Given the description of an element on the screen output the (x, y) to click on. 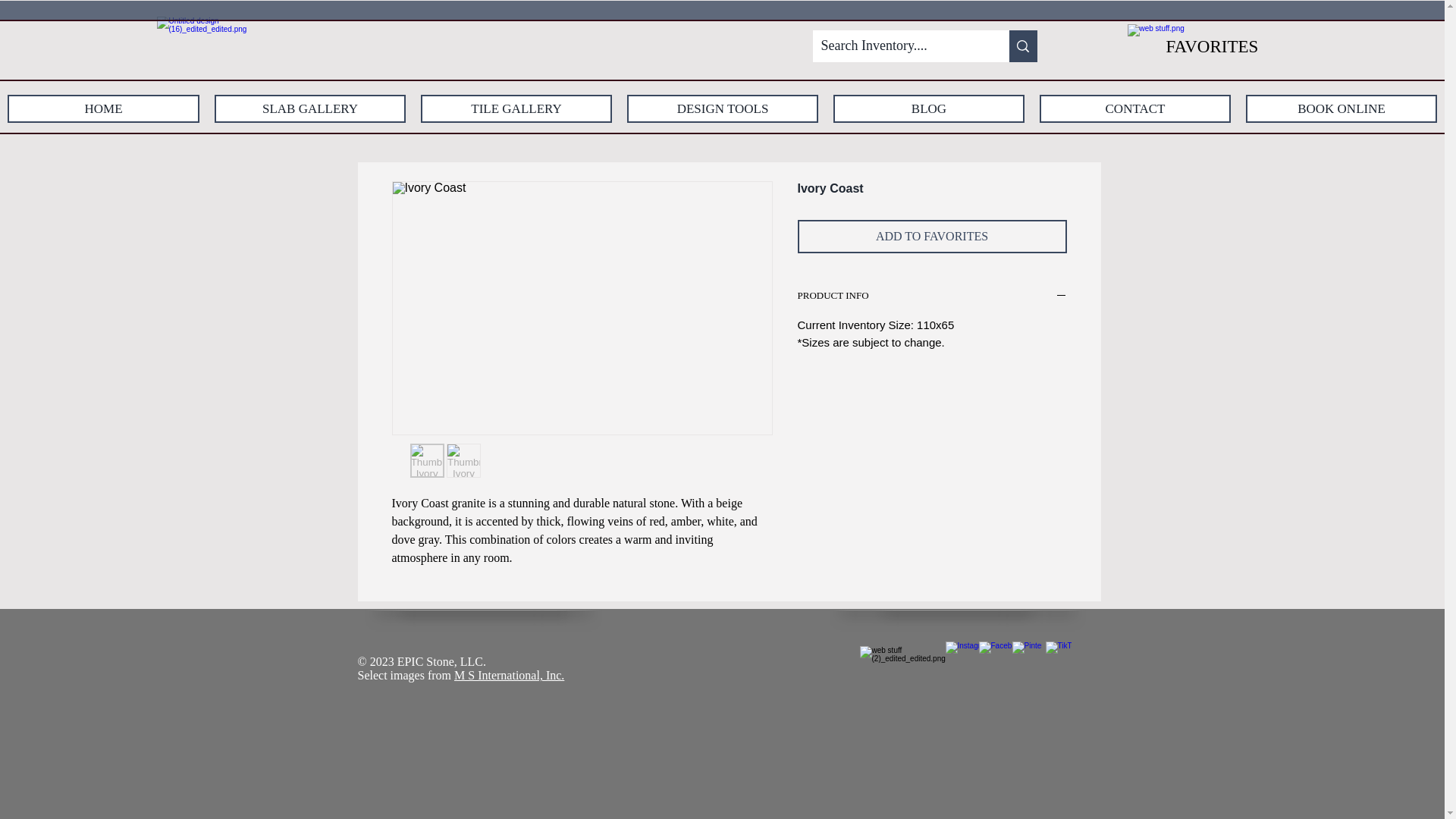
BOOK ONLINE (1341, 108)
DESIGN TOOLS (722, 108)
TILE GALLERY (515, 108)
BLOG (928, 108)
PRODUCT INFO (932, 296)
M S International, Inc. (509, 675)
SLAB GALLERY (310, 108)
HOME (103, 108)
CONTACT (1134, 108)
ADD TO FAVORITES (932, 236)
